Given the description of an element on the screen output the (x, y) to click on. 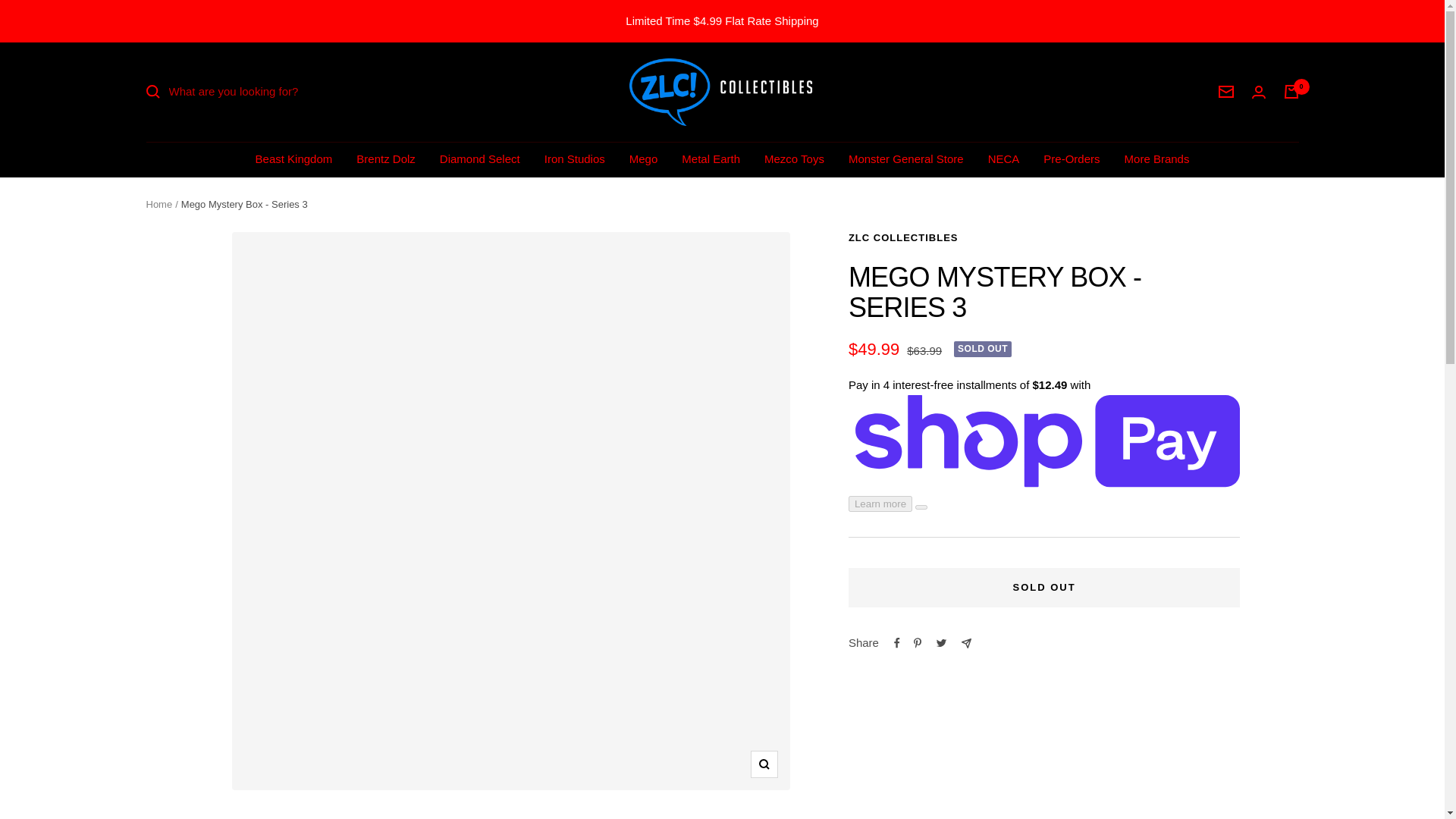
Beast Kingdom (294, 158)
Pre-Orders (1071, 158)
Iron Studios (574, 158)
NECA (1004, 158)
Brentz Dolz (385, 158)
Zlc Collectibles (721, 92)
0 (1290, 91)
Monster General Store (905, 158)
Newsletter (1225, 91)
Metal Earth (710, 158)
